Given the description of an element on the screen output the (x, y) to click on. 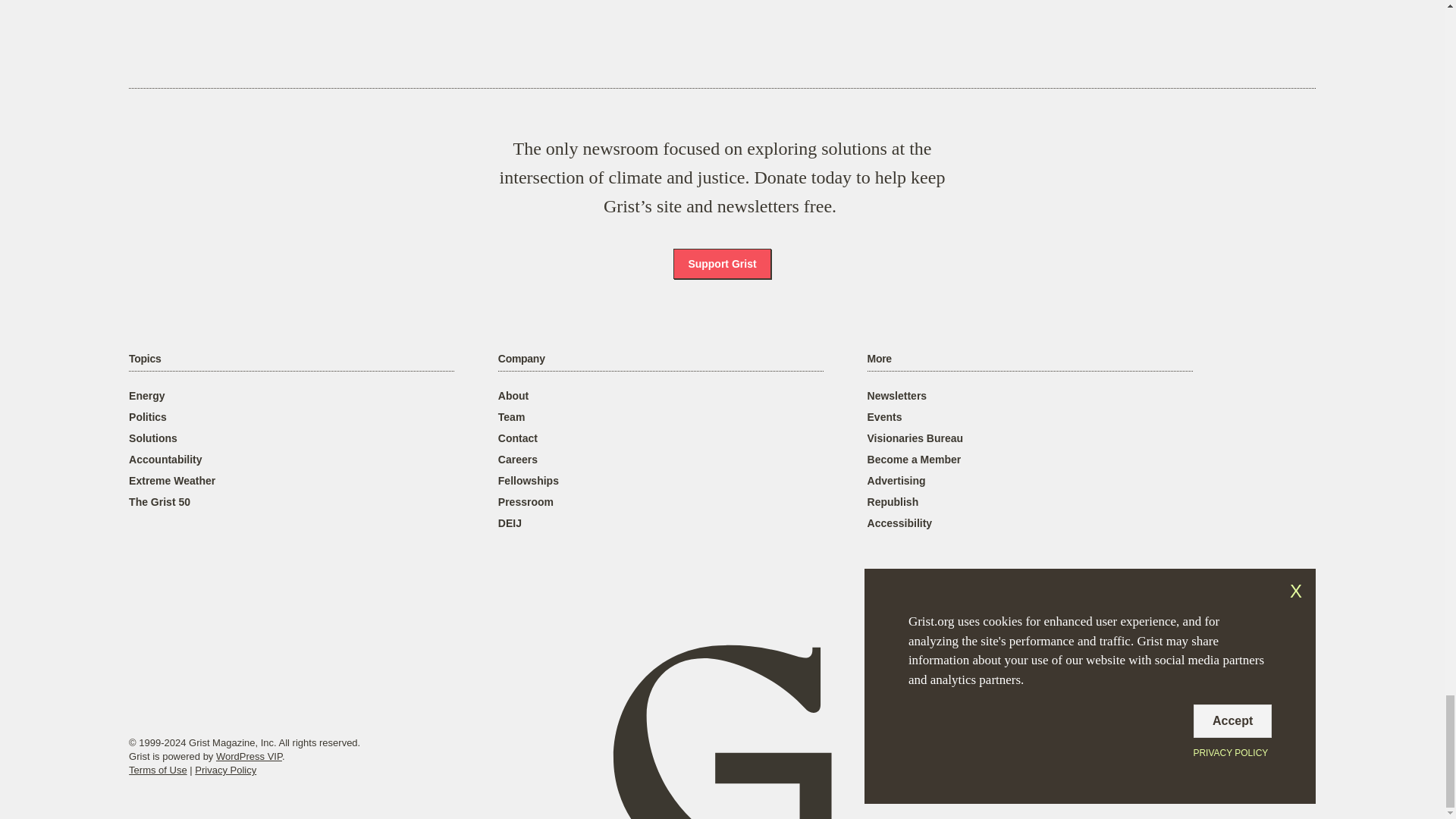
Company (520, 358)
Topics (144, 358)
More (879, 358)
